Given the description of an element on the screen output the (x, y) to click on. 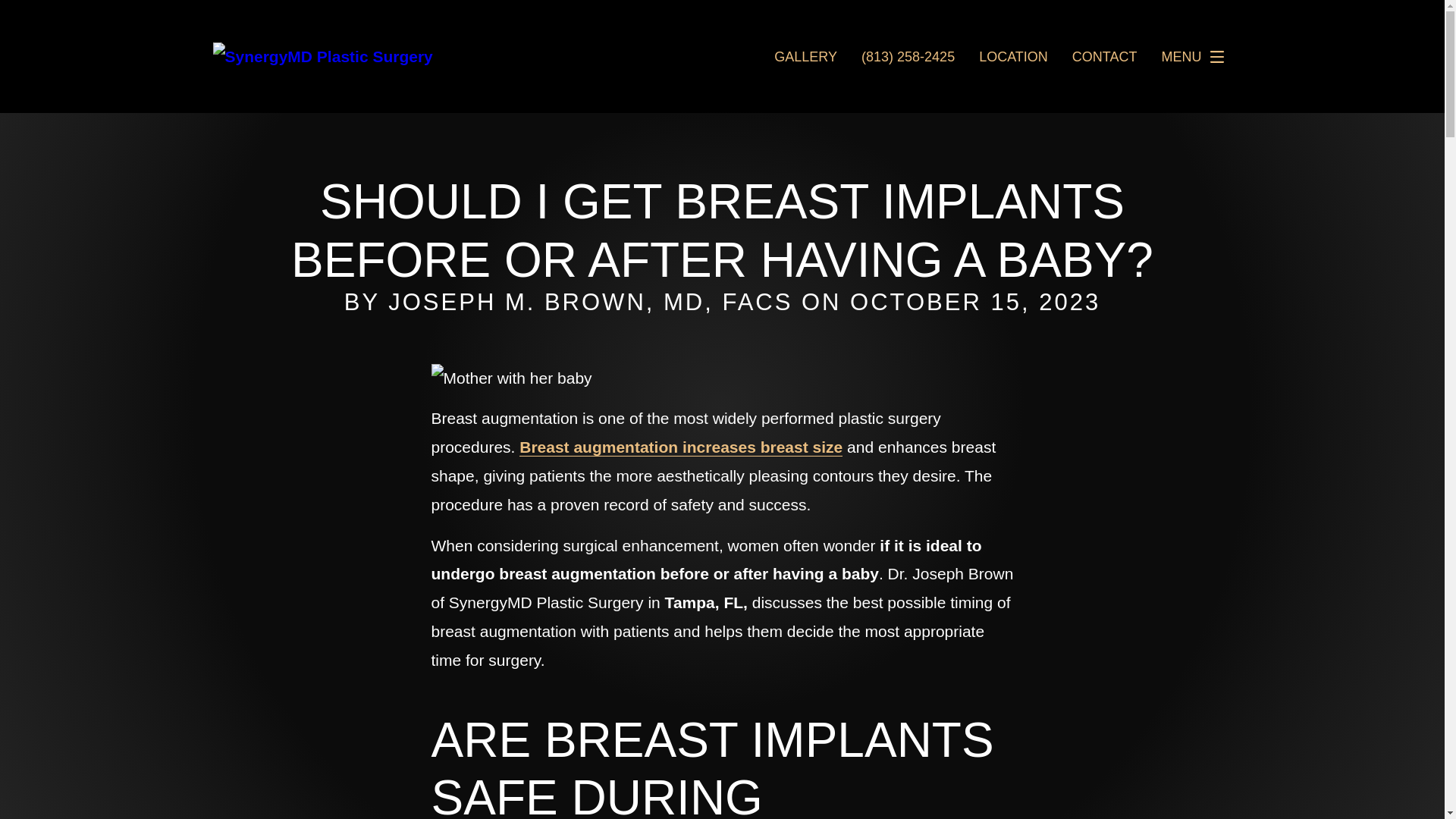
Breast augmentation increases breast size (681, 447)
